Given the description of an element on the screen output the (x, y) to click on. 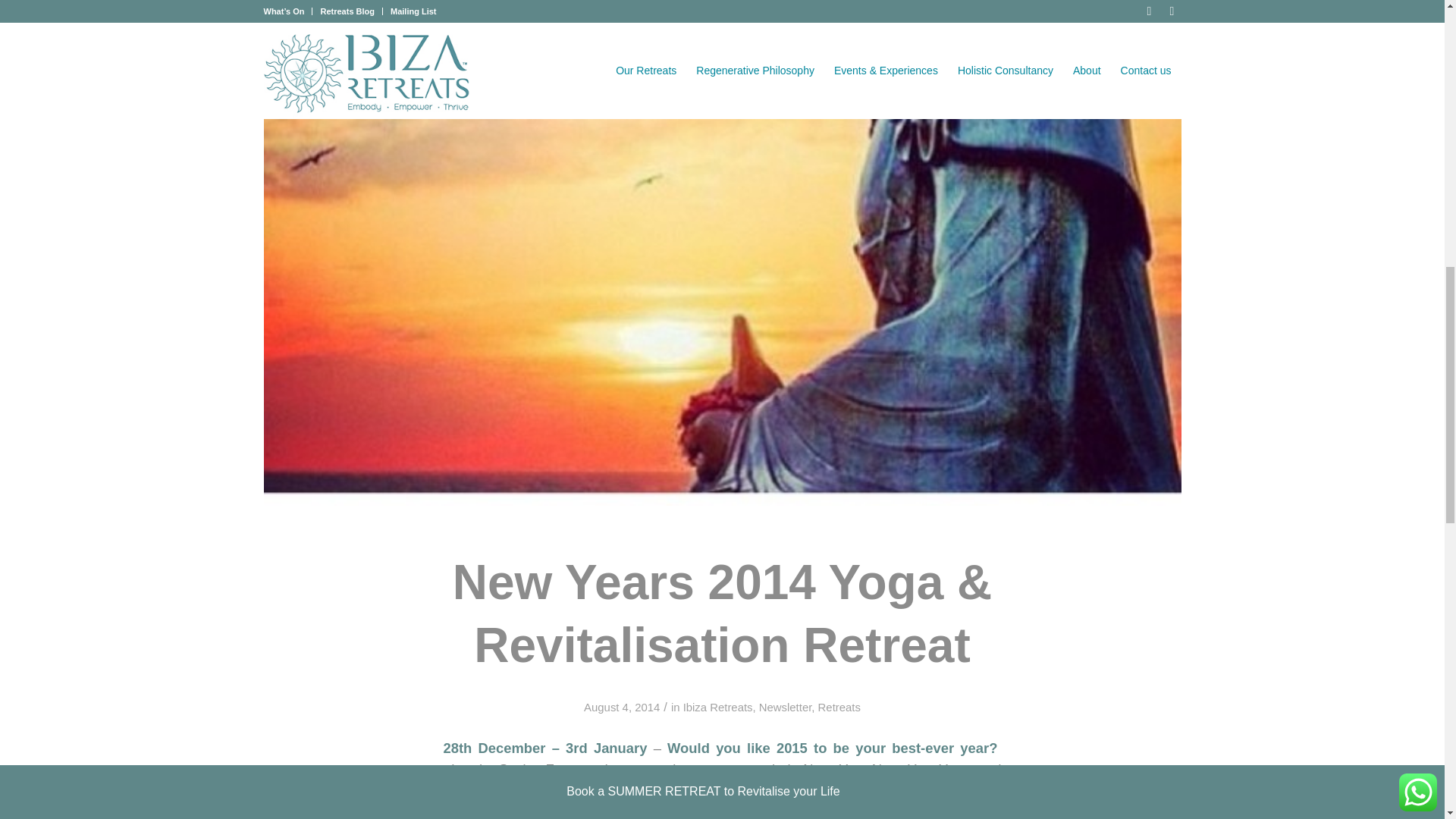
Retreats (839, 707)
Ibiza Retreats (717, 707)
Newsletter (785, 707)
